Given the description of an element on the screen output the (x, y) to click on. 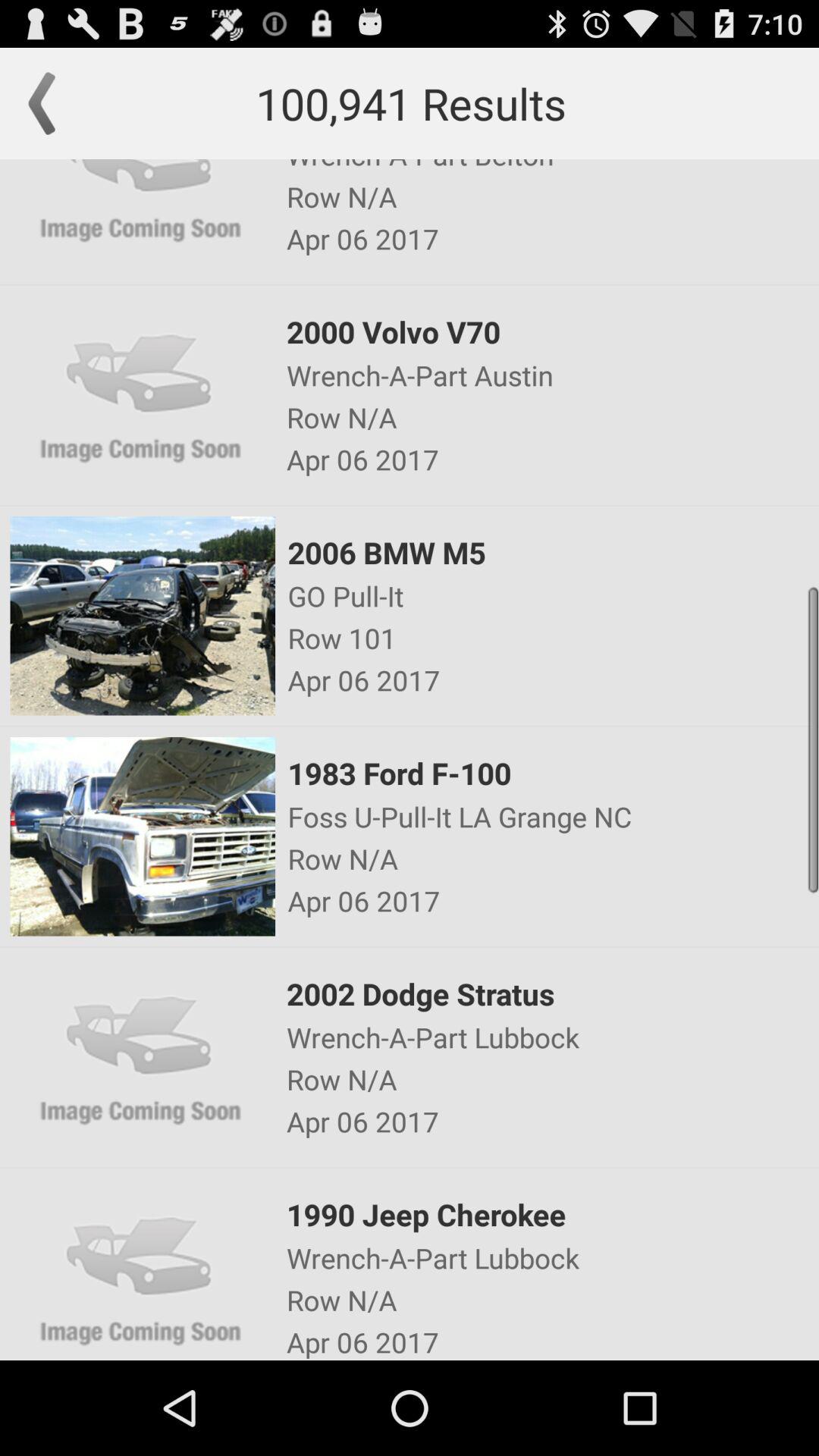
choose 2002 dodge stratus (551, 993)
